Given the description of an element on the screen output the (x, y) to click on. 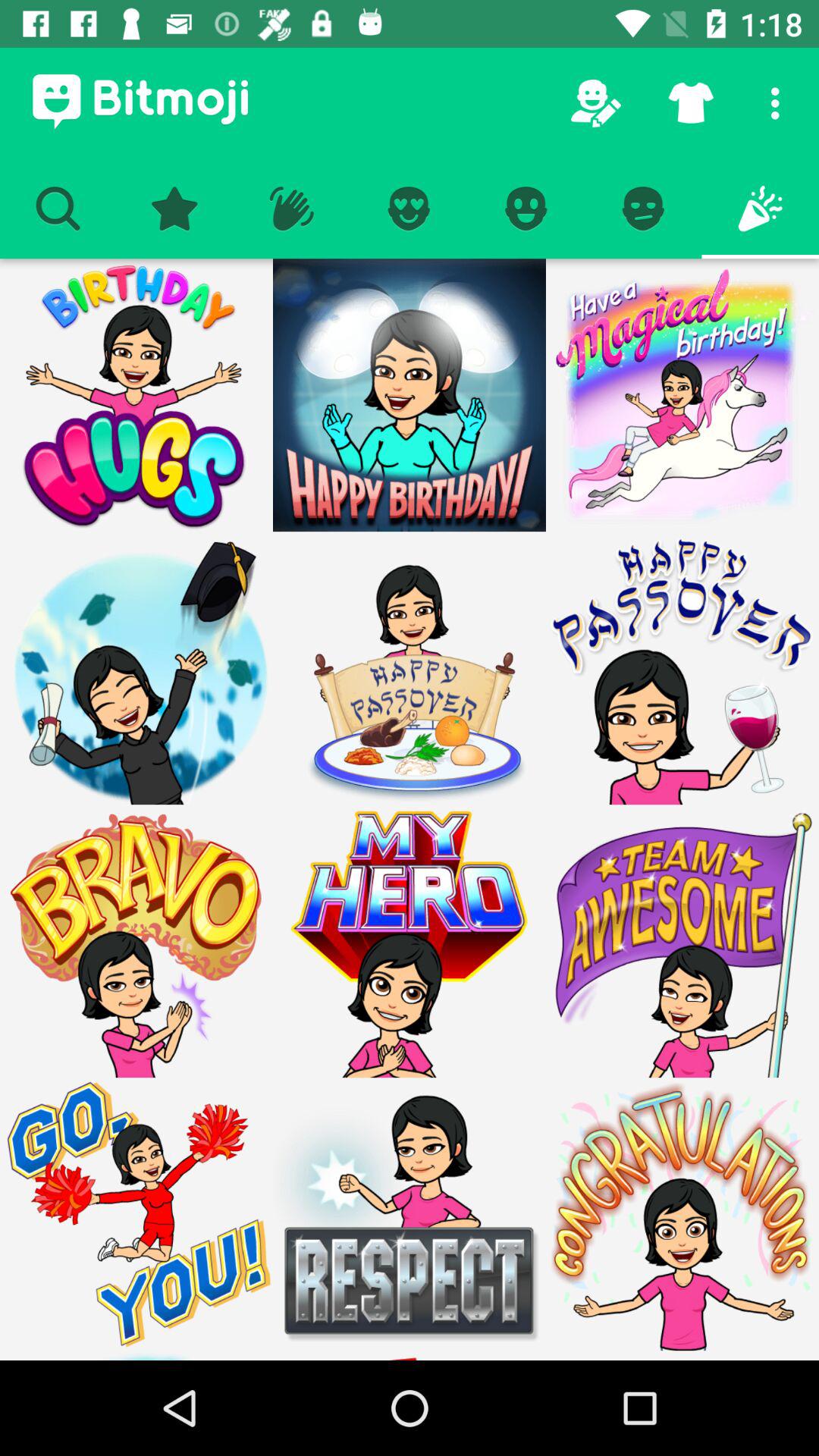
image select icon (136, 667)
